Given the description of an element on the screen output the (x, y) to click on. 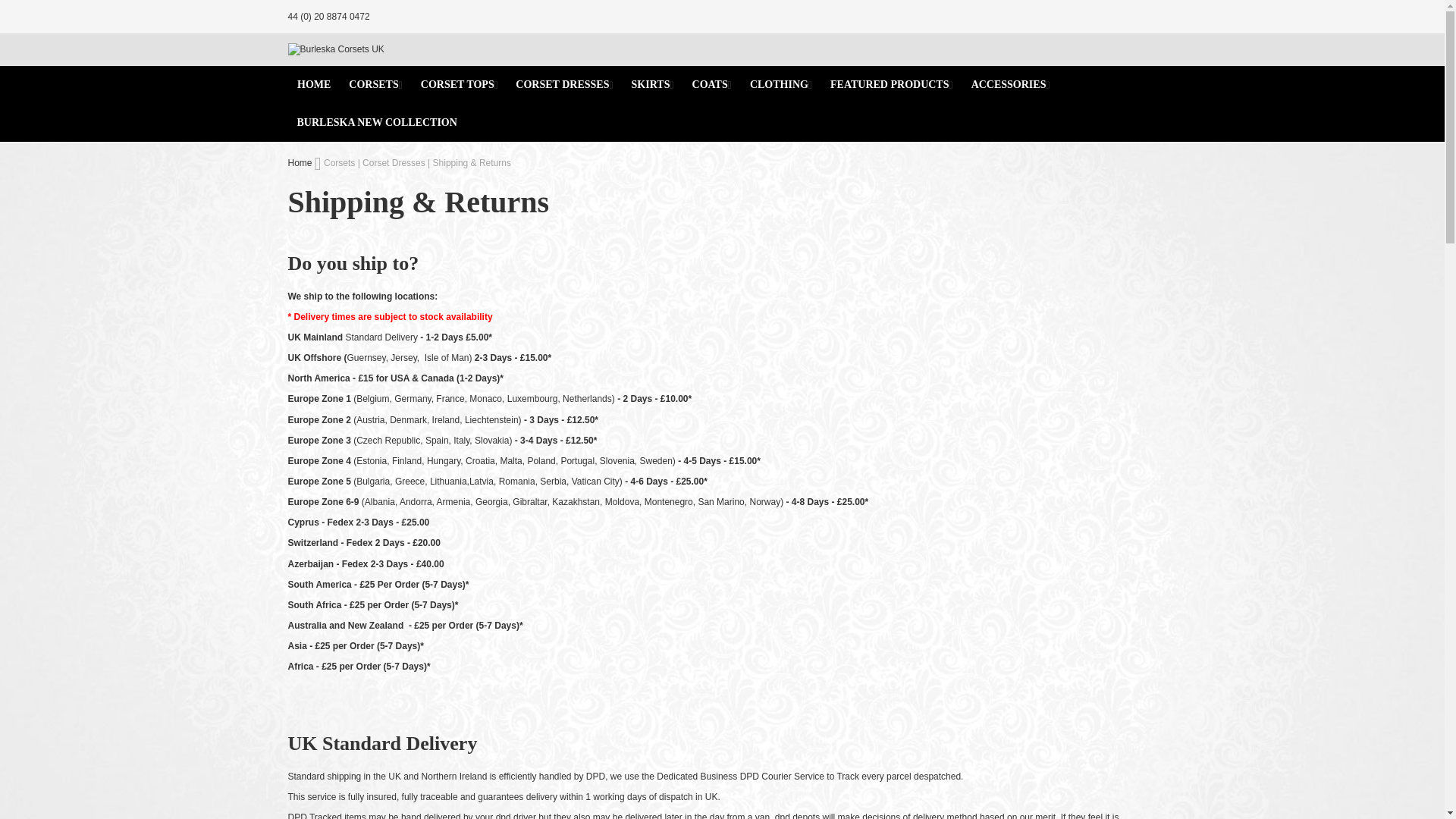
CORSETS (374, 85)
HOME (313, 85)
Burleska Corsets UK (336, 49)
Go to Home Page (300, 163)
